Given the description of an element on the screen output the (x, y) to click on. 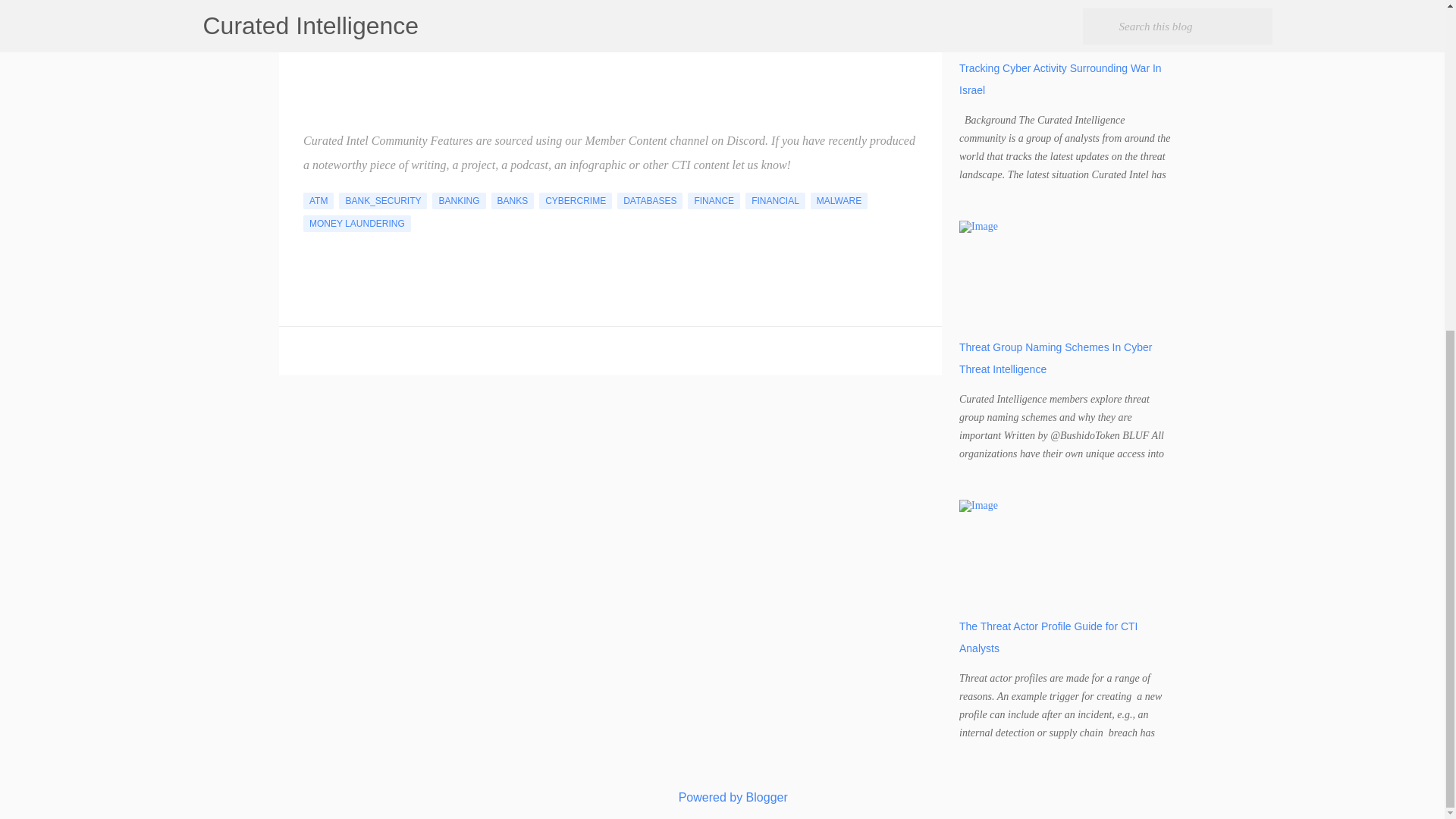
BANKS (513, 200)
DATABASES (649, 200)
Tracking Cyber Activity Surrounding War In Israel (1060, 79)
BANKING (458, 200)
ATM (317, 200)
The Threat Actor Profile Guide for CTI Analysts (1048, 636)
CYBERCRIME (574, 200)
FINANCIAL (775, 200)
MONEY LAUNDERING (356, 223)
Threat Group Naming Schemes In Cyber Threat Intelligence (1055, 358)
MALWARE (838, 200)
FINANCE (713, 200)
Powered by Blogger (721, 797)
